Given the description of an element on the screen output the (x, y) to click on. 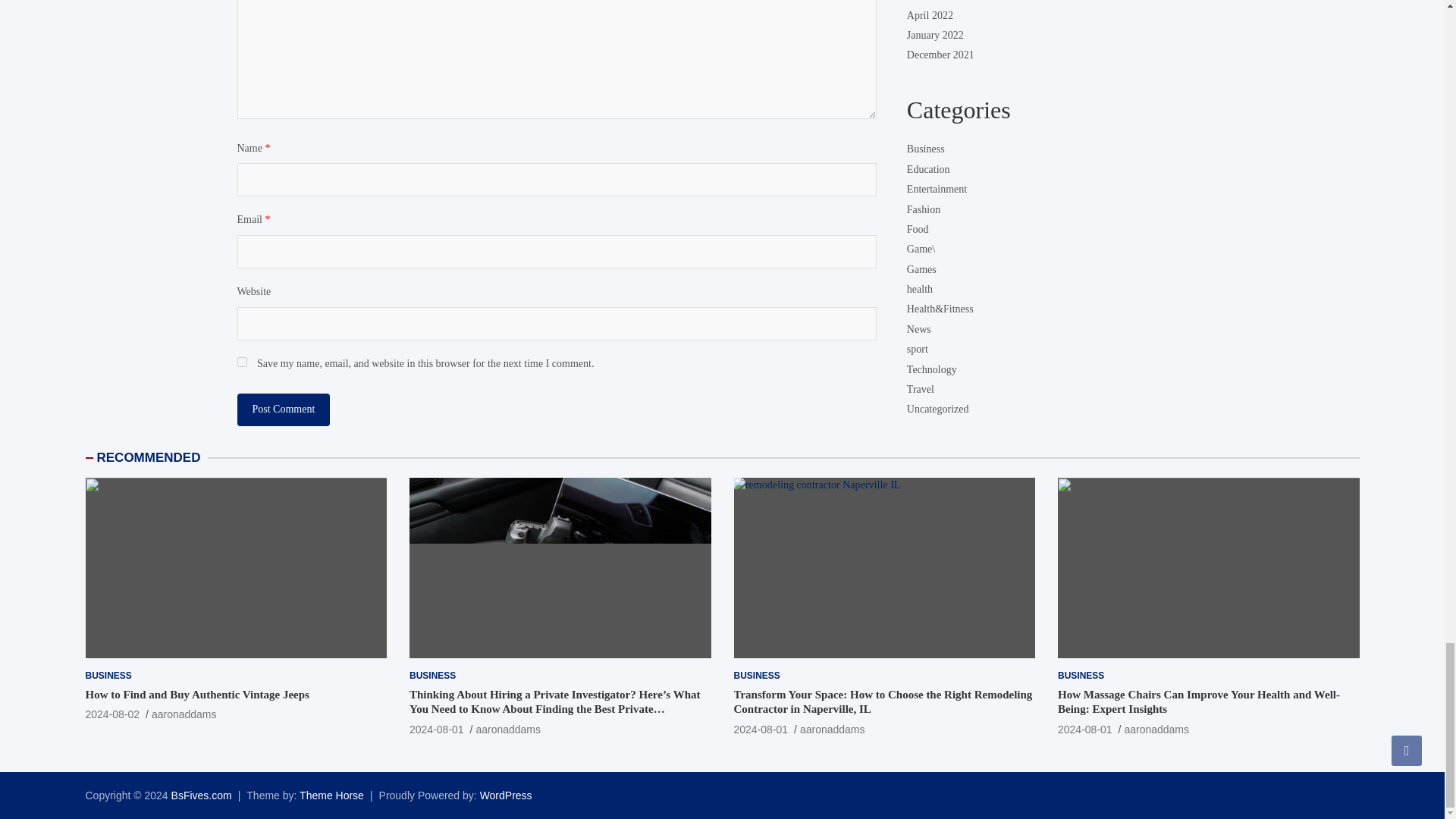
Post Comment (282, 409)
BsFives.com (201, 795)
How to Find and Buy Authentic Vintage Jeeps (111, 714)
Theme Horse (331, 795)
WordPress (506, 795)
yes (240, 361)
Post Comment (282, 409)
